Given the description of an element on the screen output the (x, y) to click on. 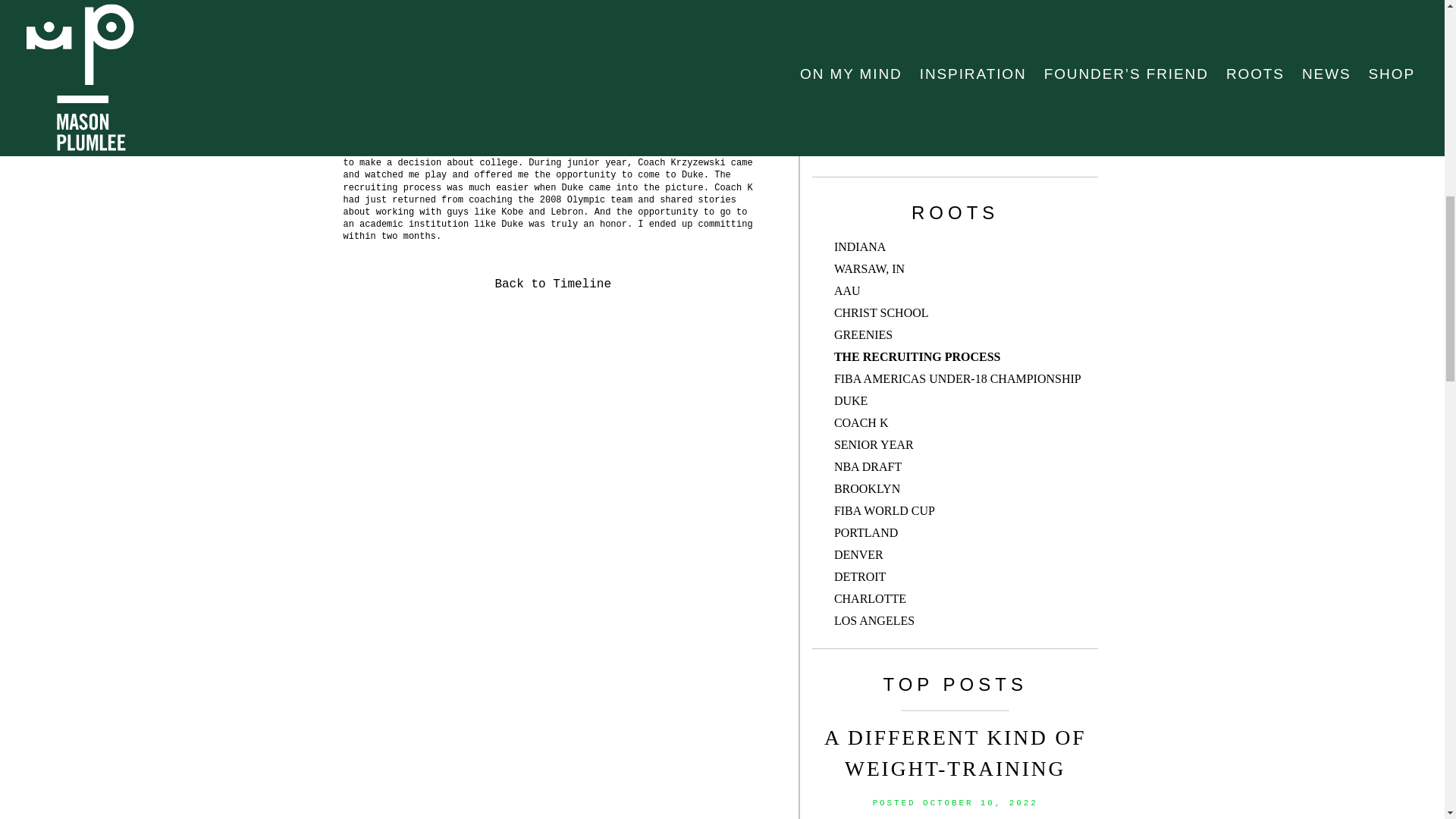
PORTLAND (866, 513)
THE RECRUITING PROCESS (917, 338)
GREENIES (863, 316)
WARSAW, IN (869, 250)
INDIANA (859, 228)
DETROIT (859, 558)
CHRIST SCHOOL (881, 294)
FIBA AMERICAS UNDER-18 CHAMPIONSHIP (957, 359)
BROOKLYN (866, 470)
AAU (847, 272)
